Given the description of an element on the screen output the (x, y) to click on. 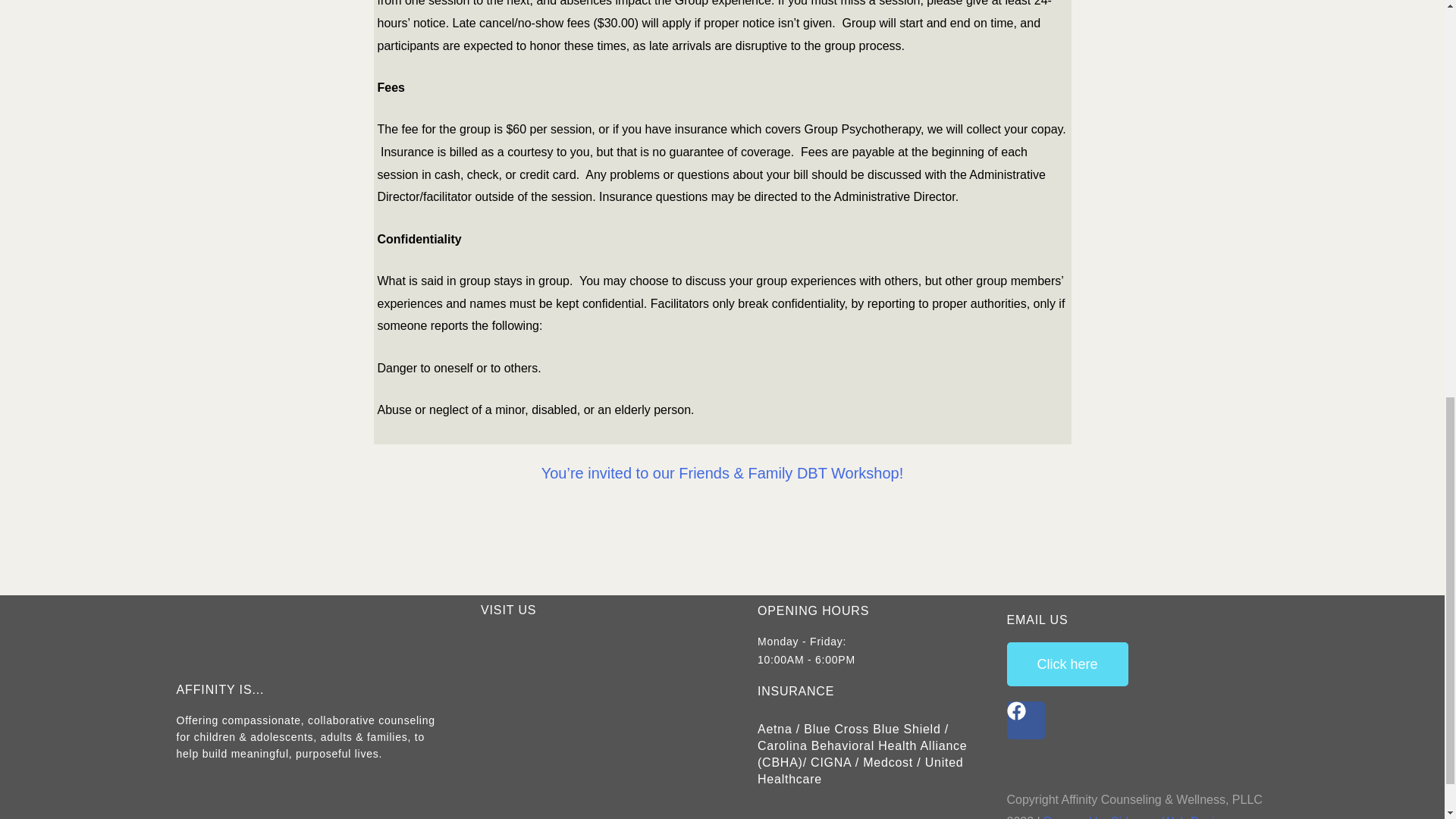
Facebook (1026, 720)
3143 S. Stratford Road (597, 725)
Click here (1067, 664)
